Given the description of an element on the screen output the (x, y) to click on. 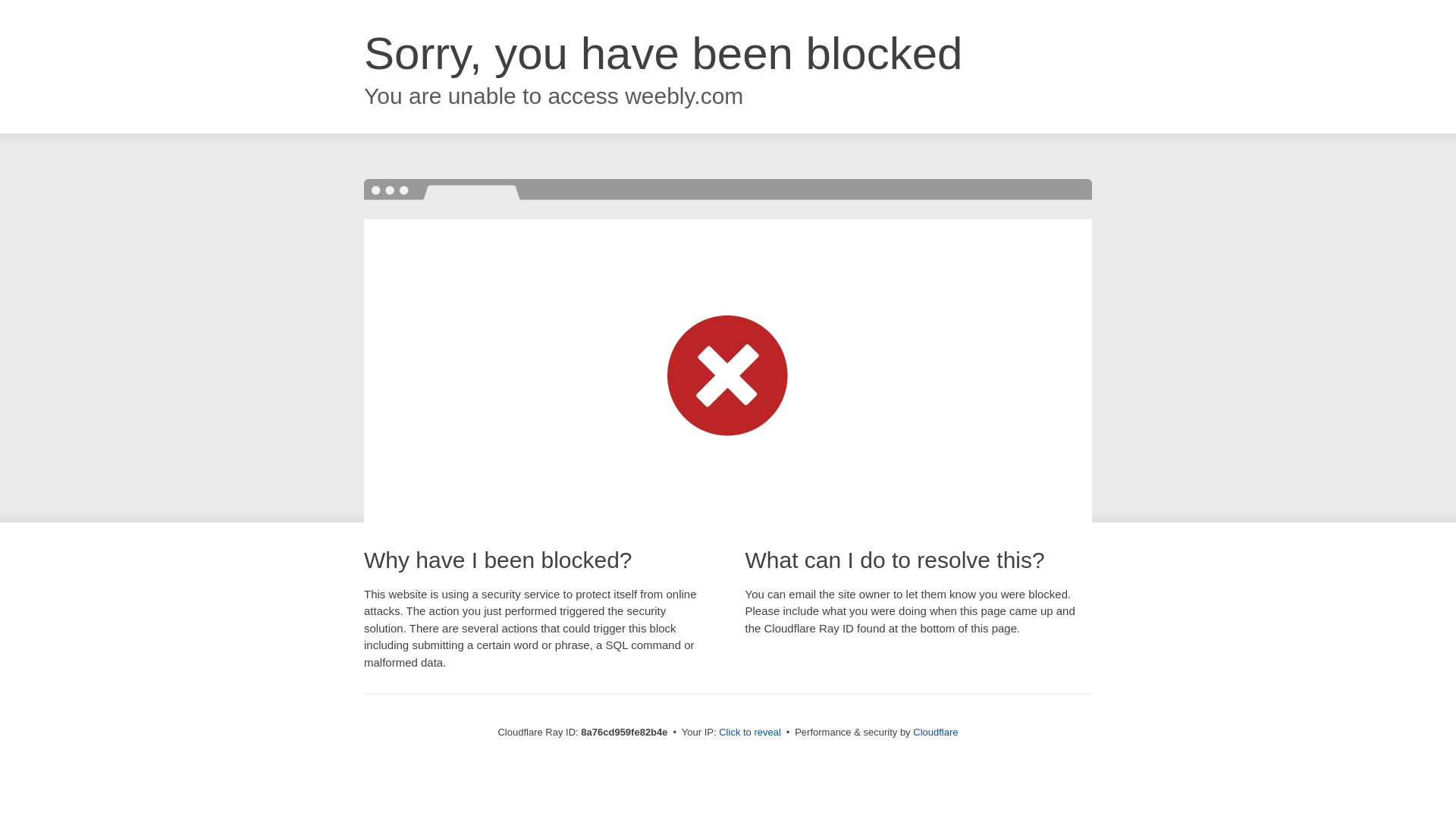
Click to reveal (749, 732)
Cloudflare (935, 731)
